Given the description of an element on the screen output the (x, y) to click on. 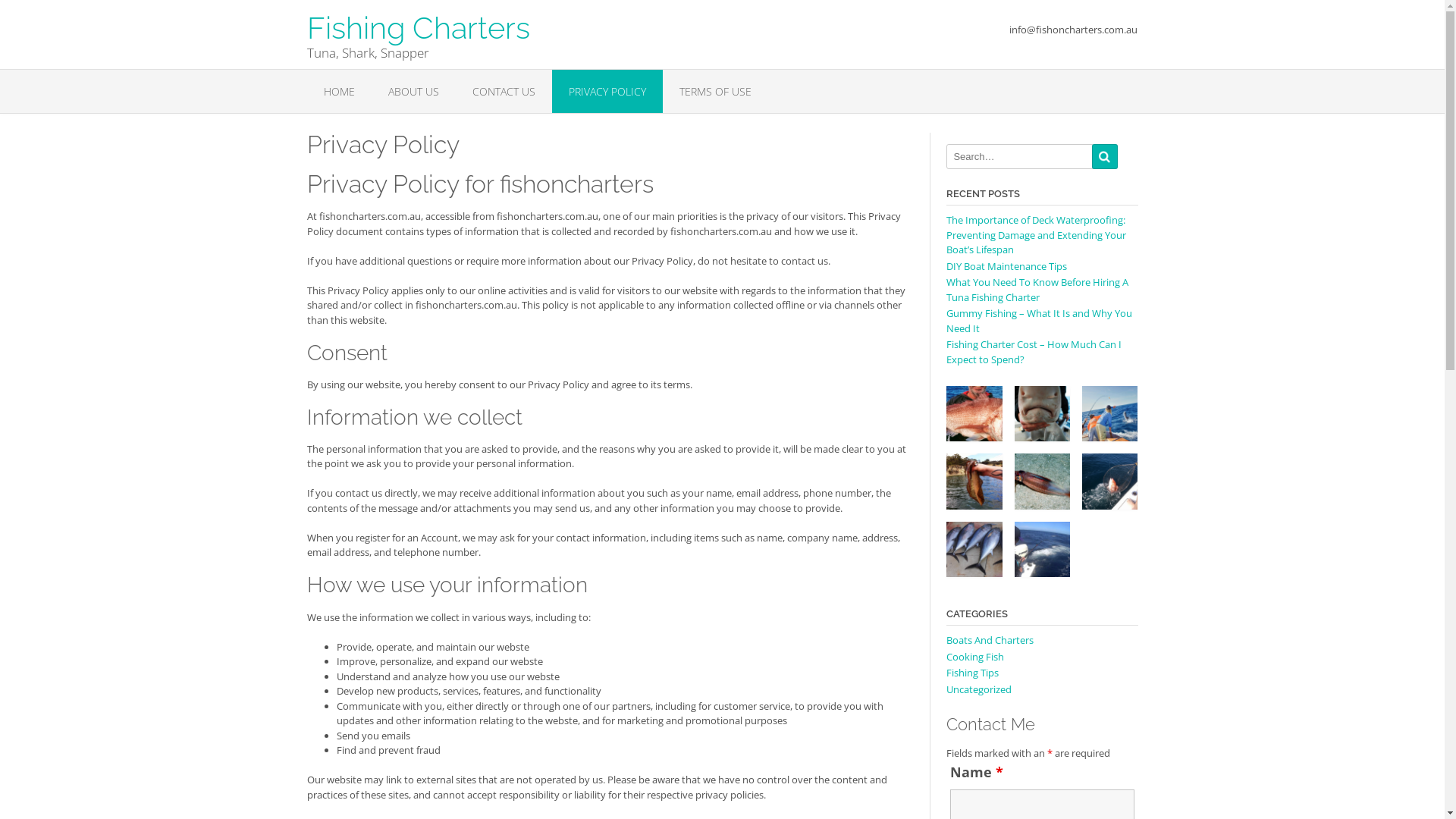
Boats And Charters Element type: text (989, 639)
Search for: Element type: hover (1019, 156)
CONTACT US Element type: text (503, 90)
Fishing Charters Element type: text (417, 21)
What You Need To Know Before Hiring A Tuna Fishing Charter Element type: text (1037, 289)
PRIVACY POLICY Element type: text (607, 90)
Uncategorized Element type: text (978, 689)
ABOUT US Element type: text (413, 90)
DIY Boat Maintenance Tips Element type: text (1006, 266)
HOME Element type: text (338, 90)
TERMS OF USE Element type: text (715, 90)
Cooking Fish Element type: text (975, 656)
Fishing Tips Element type: text (972, 672)
